Given the description of an element on the screen output the (x, y) to click on. 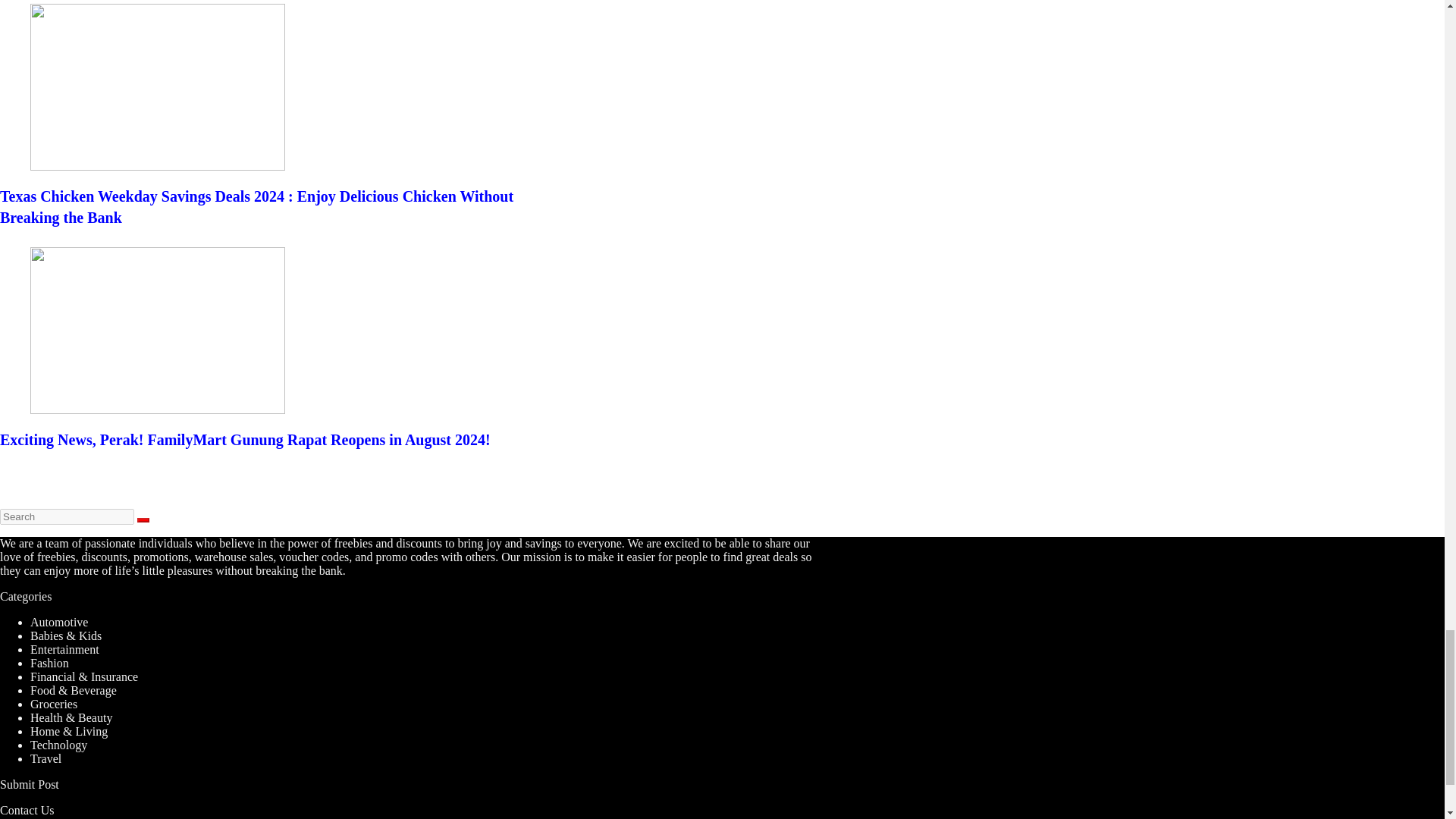
Automotive (58, 621)
